Given the description of an element on the screen output the (x, y) to click on. 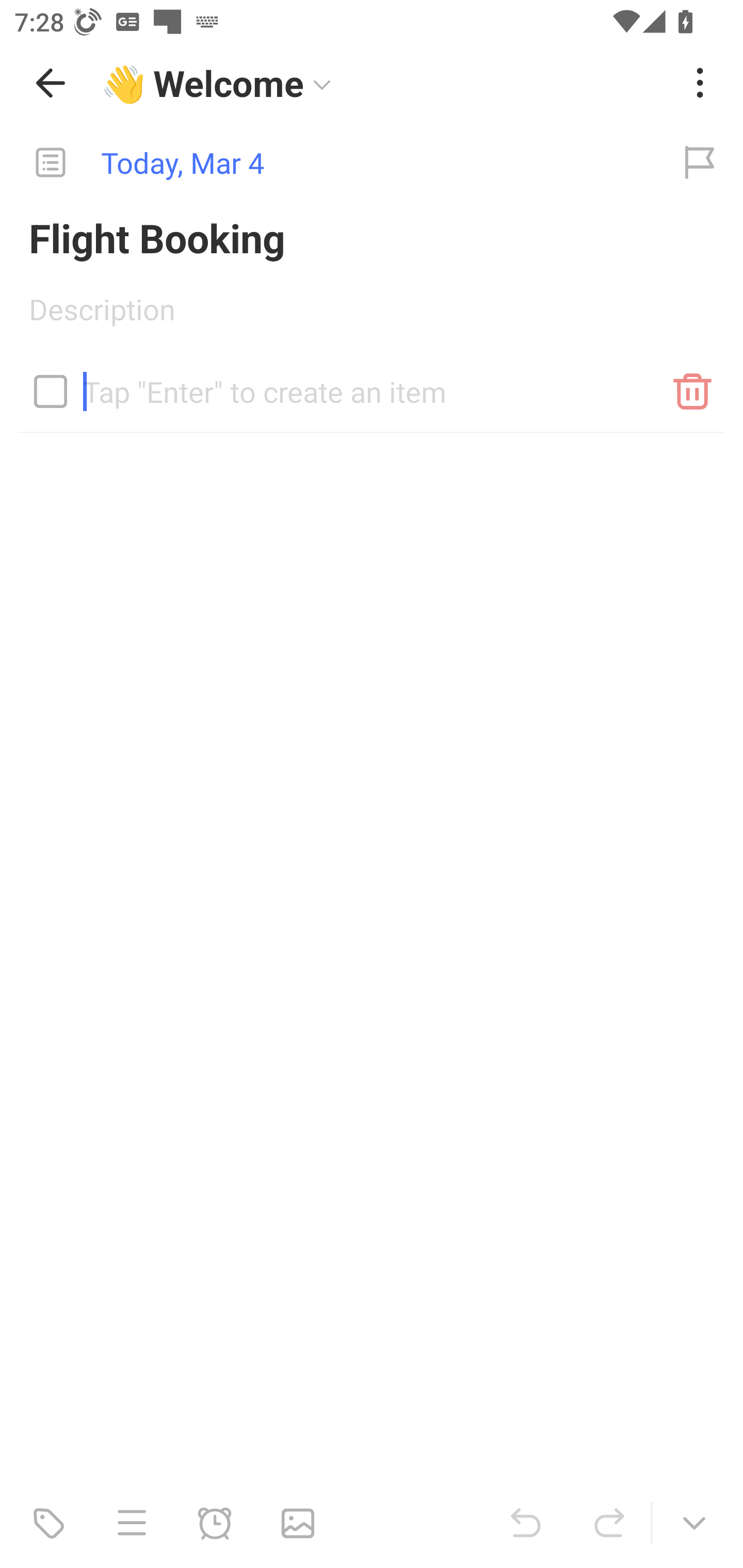
👋 Welcome (384, 82)
Today, Mar 4  (328, 163)
Flight Booking (371, 237)
Description (371, 315)
  (50, 390)
Tap "Enter" to create an item (371, 383)
